Given the description of an element on the screen output the (x, y) to click on. 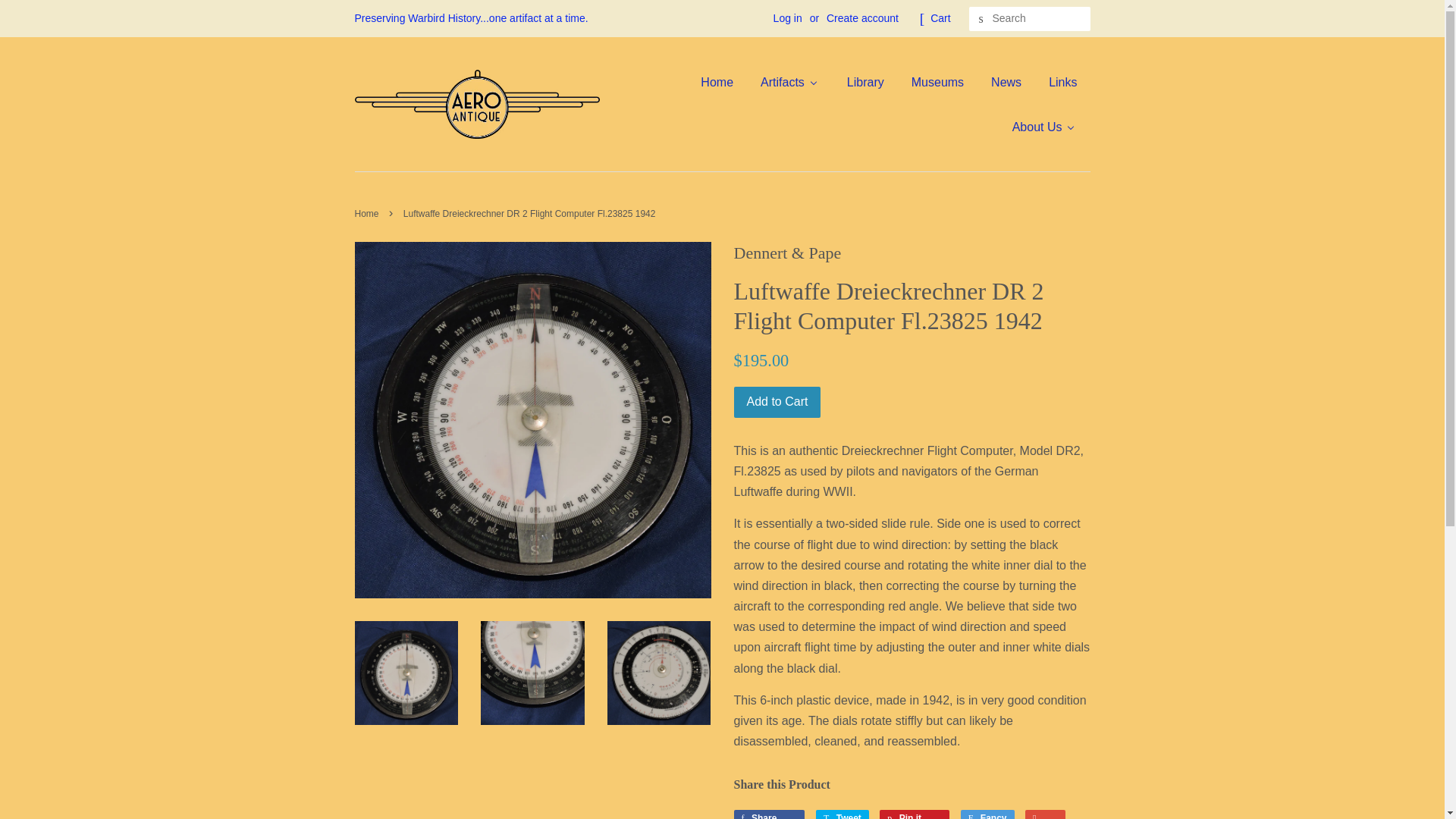
Search (980, 18)
Back to the frontpage (368, 213)
Cart (940, 18)
Log in (787, 18)
Create account (862, 18)
